Given the description of an element on the screen output the (x, y) to click on. 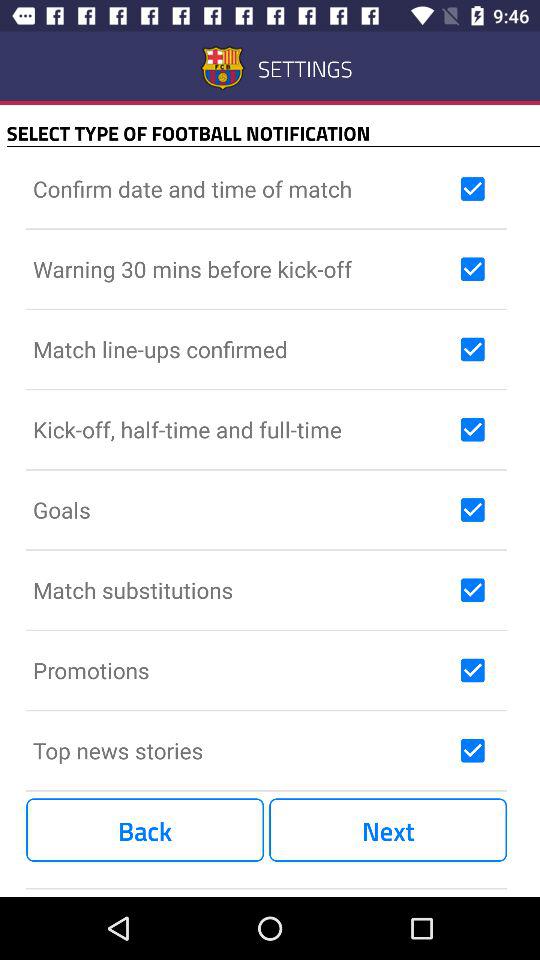
jump to the top news stories (242, 750)
